Given the description of an element on the screen output the (x, y) to click on. 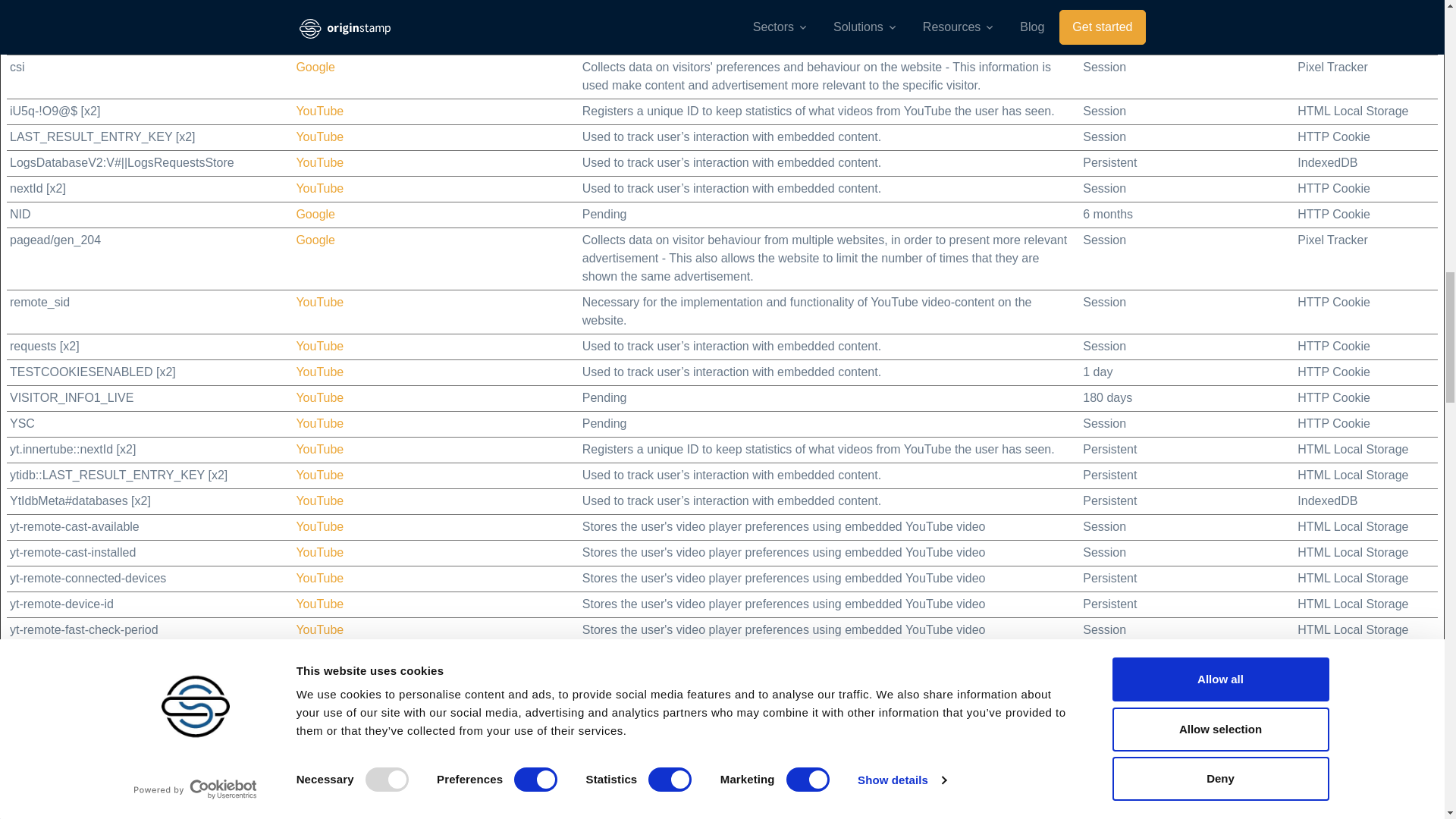
Google (314, 239)
YouTube (319, 500)
YouTube (319, 301)
YouTube (319, 162)
YouTube (319, 526)
Adthrive's privacy policy (317, 2)
YouTube (319, 422)
YouTube (319, 577)
Google (314, 22)
Adthrive (317, 817)
YouTube's privacy policy (319, 110)
YouTube's privacy policy (319, 187)
YouTube (319, 552)
Google's privacy policy (314, 22)
Google's privacy policy (314, 239)
